Given the description of an element on the screen output the (x, y) to click on. 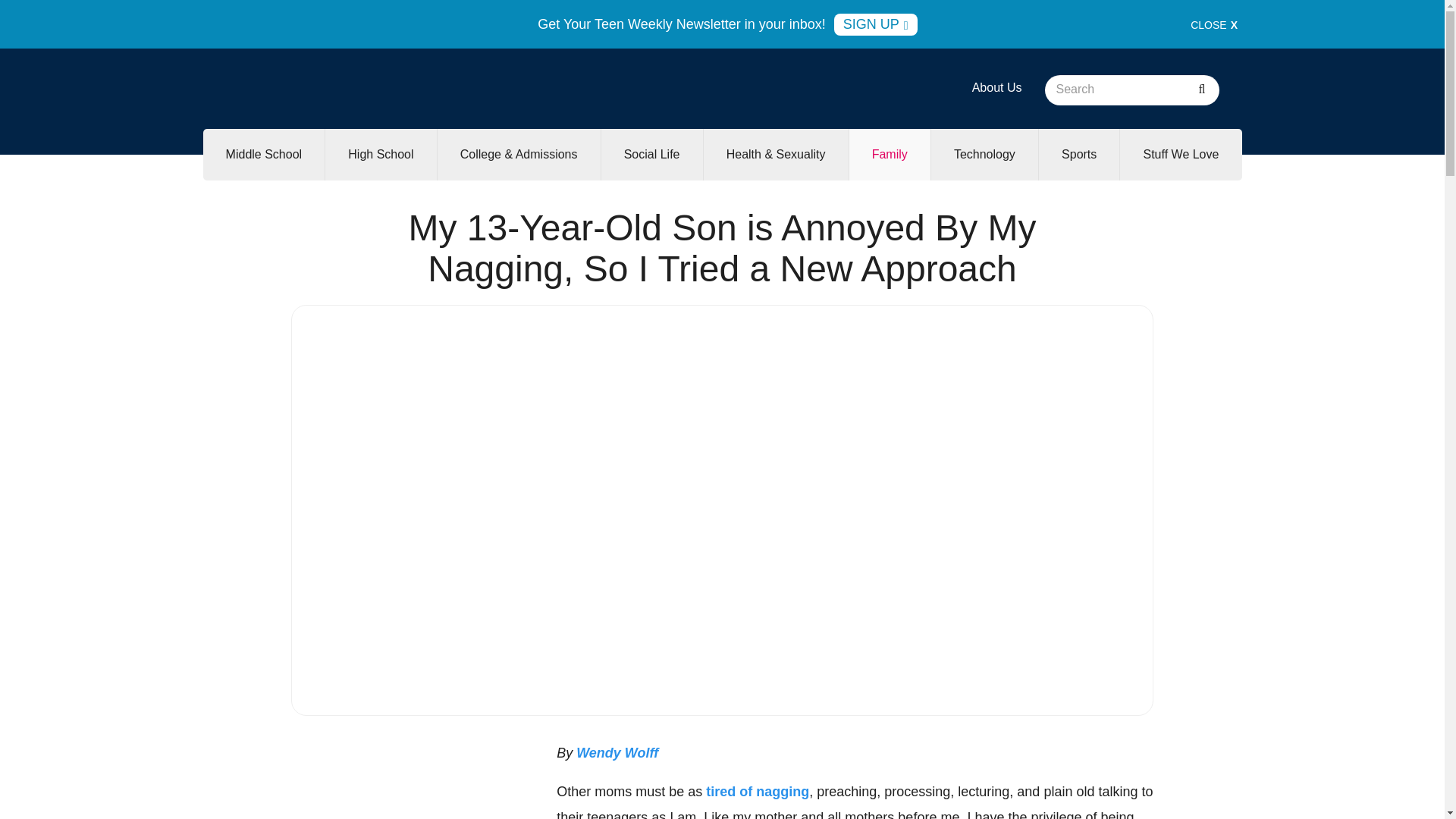
Social Life (652, 154)
Stuff We Love (1180, 154)
Family (889, 154)
Sports (1079, 154)
CLOSE (1214, 24)
SIGN UP (875, 24)
Search (1201, 90)
About Us (997, 87)
Technology (984, 154)
High School (379, 154)
Middle School (263, 154)
